Given the description of an element on the screen output the (x, y) to click on. 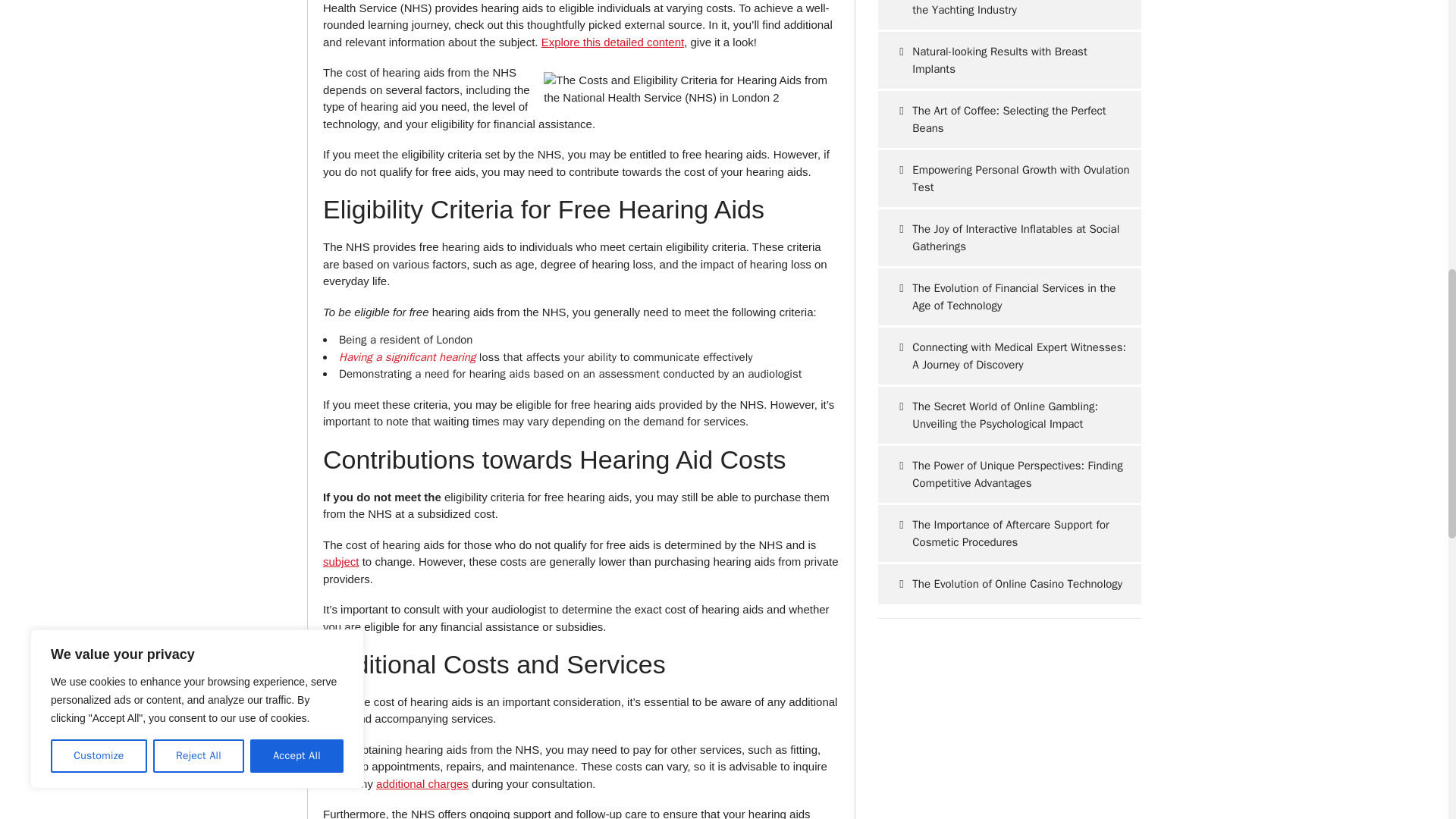
additional charges (421, 783)
Explore this detailed content (612, 42)
subject (341, 561)
